Given the description of an element on the screen output the (x, y) to click on. 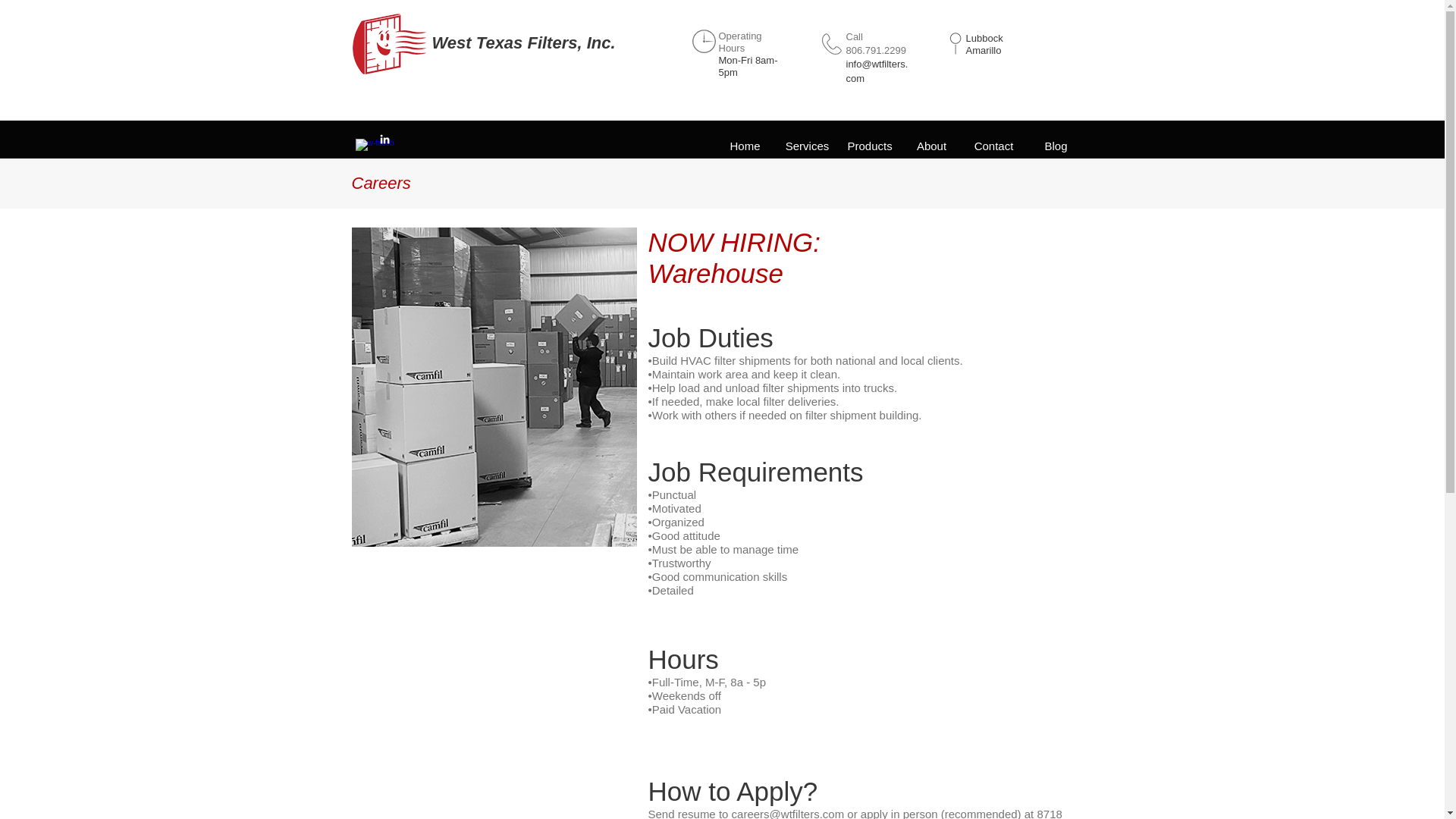
Blog (1056, 139)
West Texas Filters, Inc.  (526, 42)
Contact (993, 139)
Products (869, 139)
Home (745, 139)
About (931, 139)
Services (807, 139)
